Given the description of an element on the screen output the (x, y) to click on. 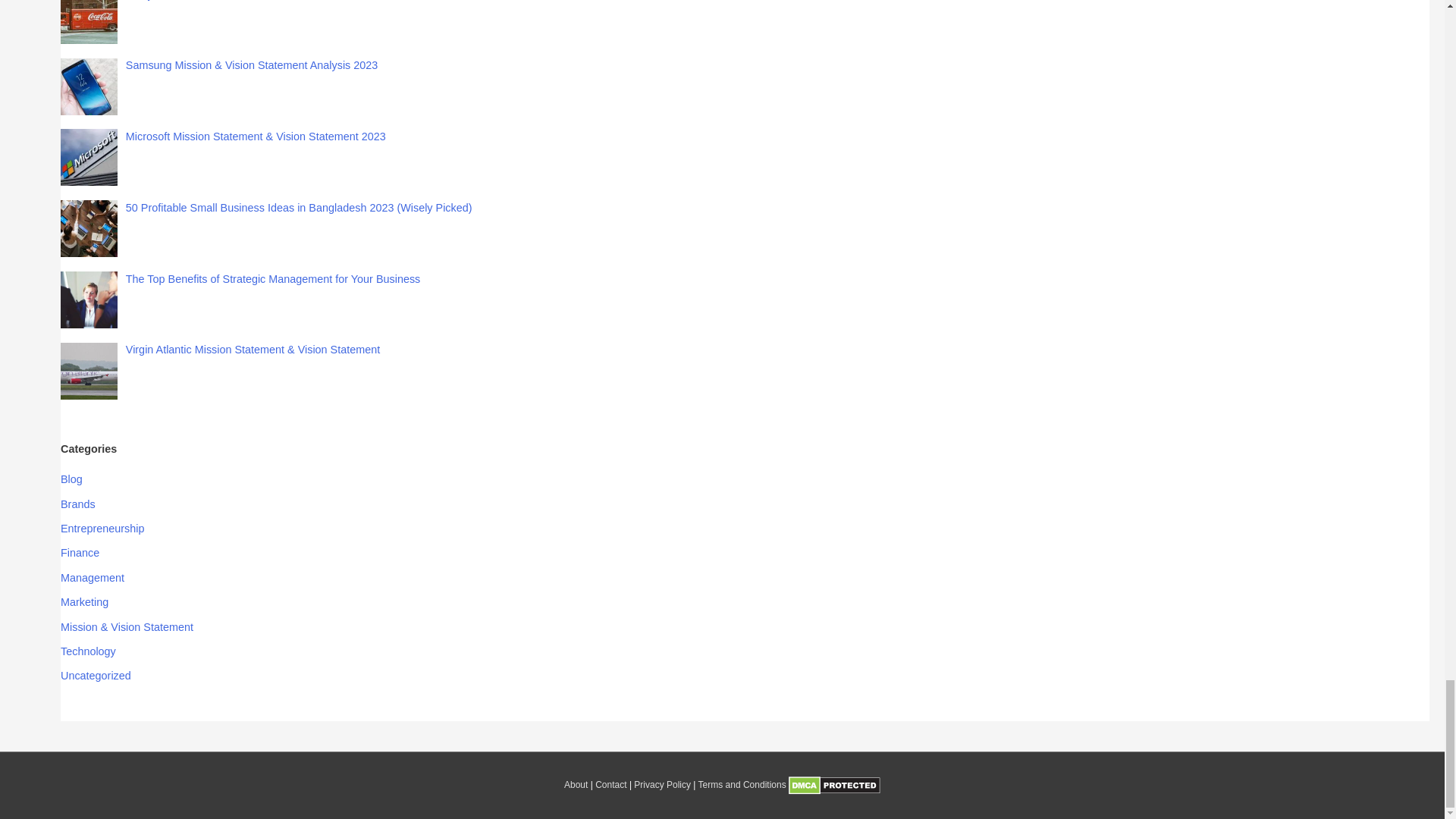
Virgin Atlantic Mission Statement (89, 371)
Brands (78, 503)
Microsoft mission statement (89, 156)
coca cola mission statement (89, 22)
Blog (71, 479)
DMCA.com Protection Status (834, 784)
benefits of strategic management (89, 299)
Samsung mission statement (89, 86)
business ideas in bangladesh (89, 228)
The Top Benefits of Strategic Management for Your Business (272, 278)
Entrepreneurship (102, 528)
